Given the description of an element on the screen output the (x, y) to click on. 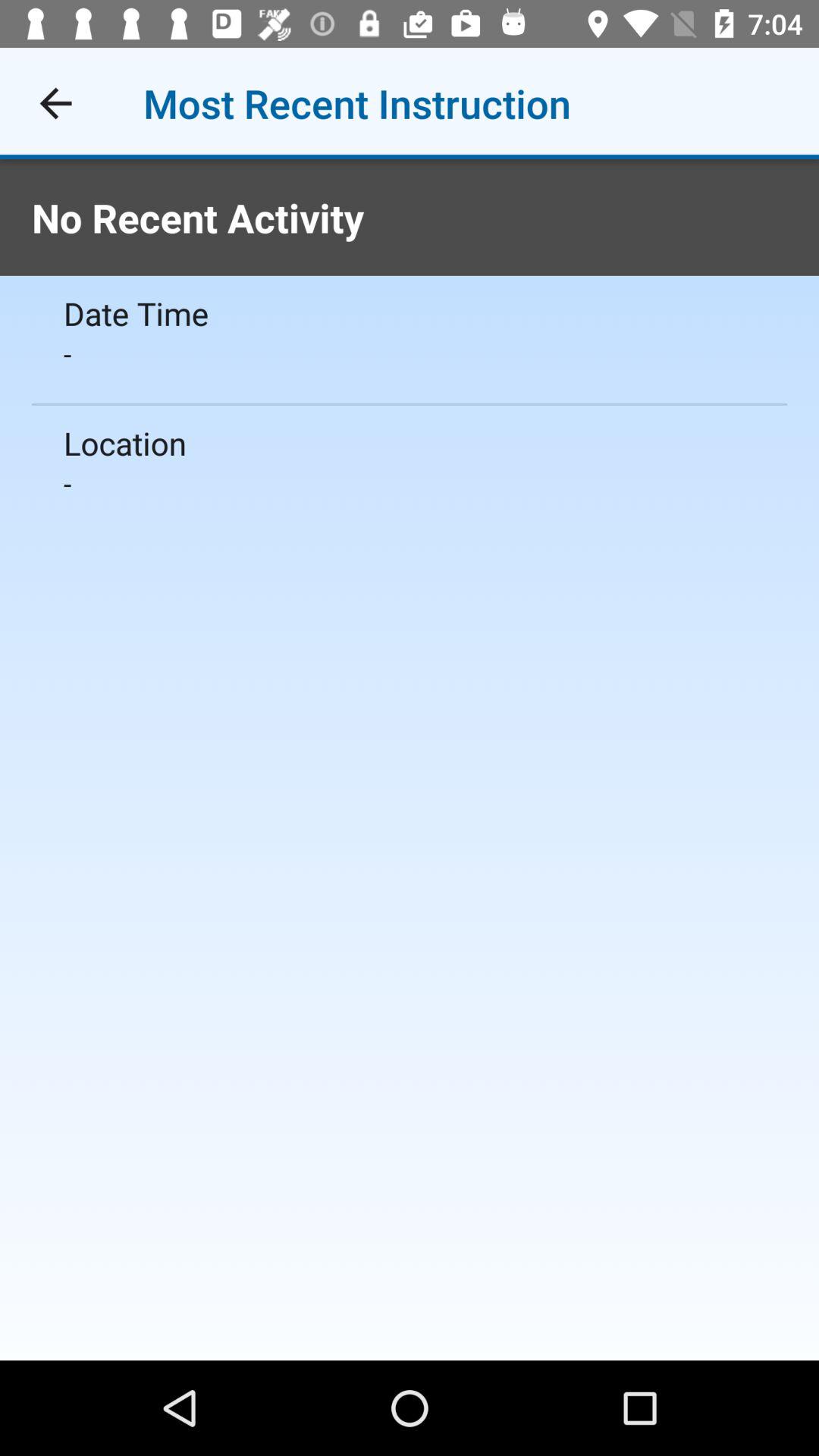
scroll until the date time icon (409, 312)
